Given the description of an element on the screen output the (x, y) to click on. 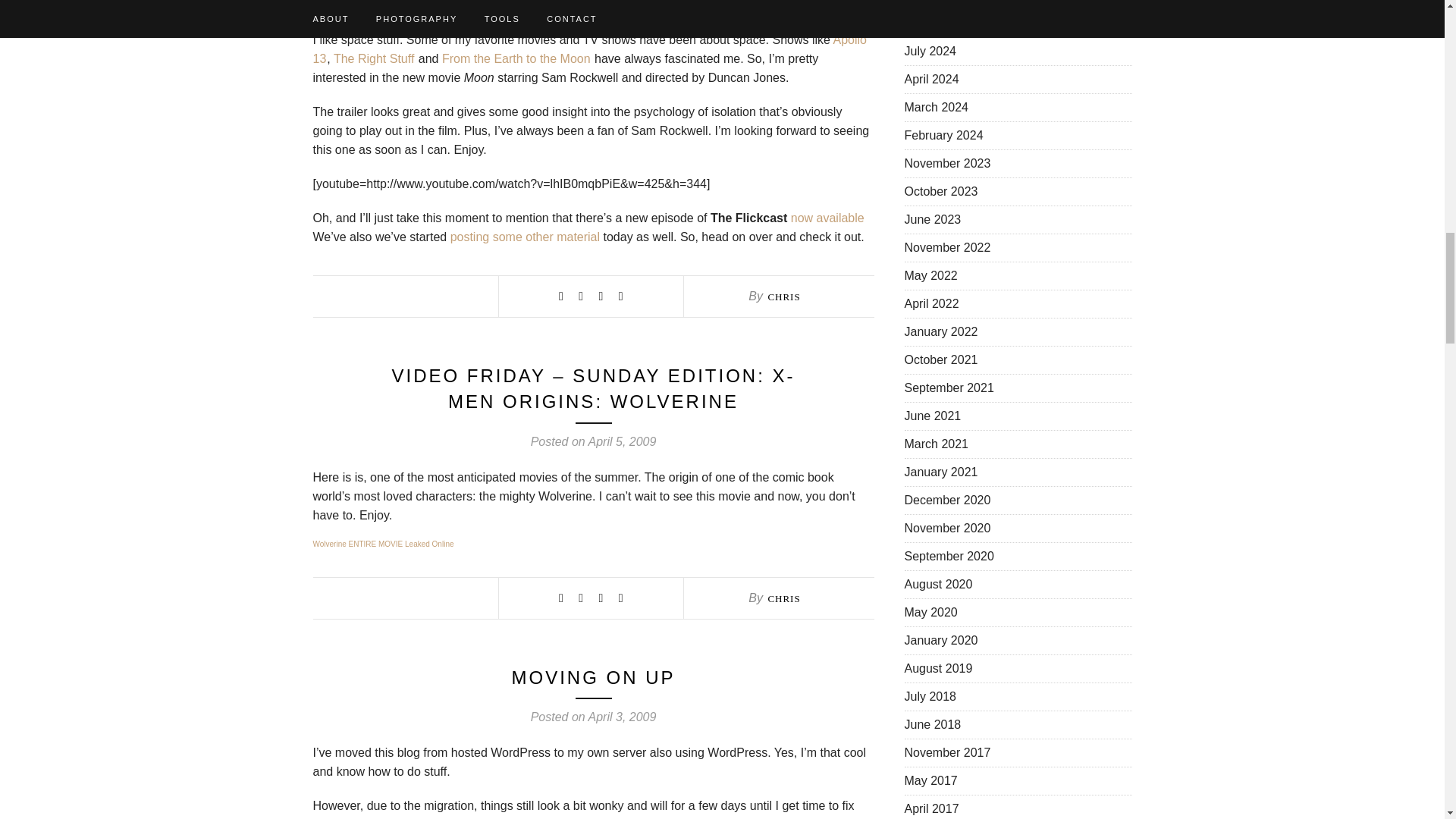
now available (827, 217)
Wolverine ENTIRE MOVIE Leaked Online (382, 543)
Posts by Chris (783, 598)
from WolverineMovie (382, 543)
posting some other material (524, 236)
Apollo 13 (589, 49)
The Right Stuff (373, 58)
From the Earth to the Moon (516, 58)
CHRIS (783, 296)
Posts by Chris (783, 296)
